Given the description of an element on the screen output the (x, y) to click on. 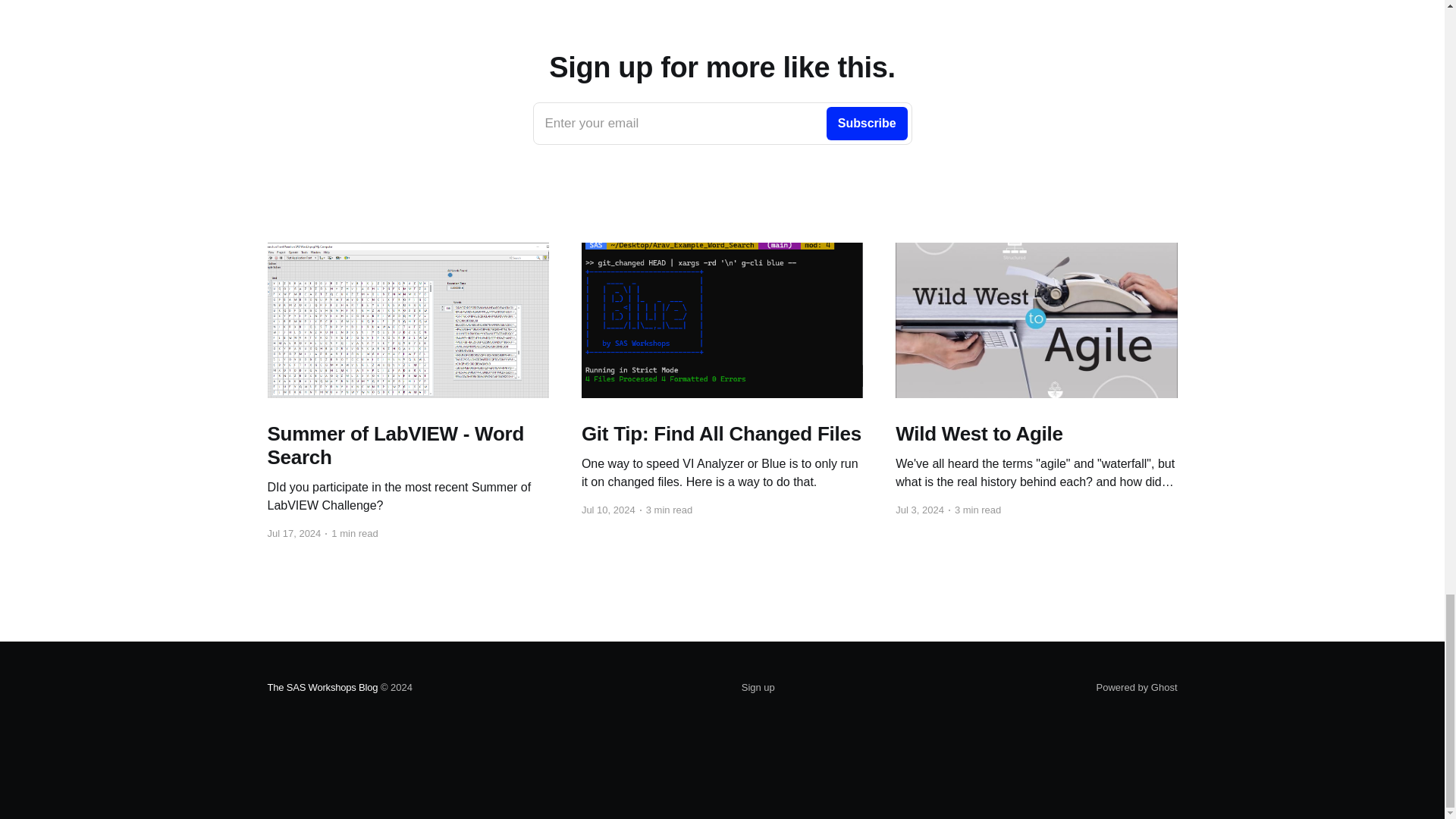
The SAS Workshops Blog (321, 686)
Powered by Ghost (1136, 686)
Summer of LabVIEW - Word Search (407, 445)
Wild West to Agile (1035, 433)
Git Tip: Find All Changed Files (721, 123)
Sign up (721, 433)
